Given the description of an element on the screen output the (x, y) to click on. 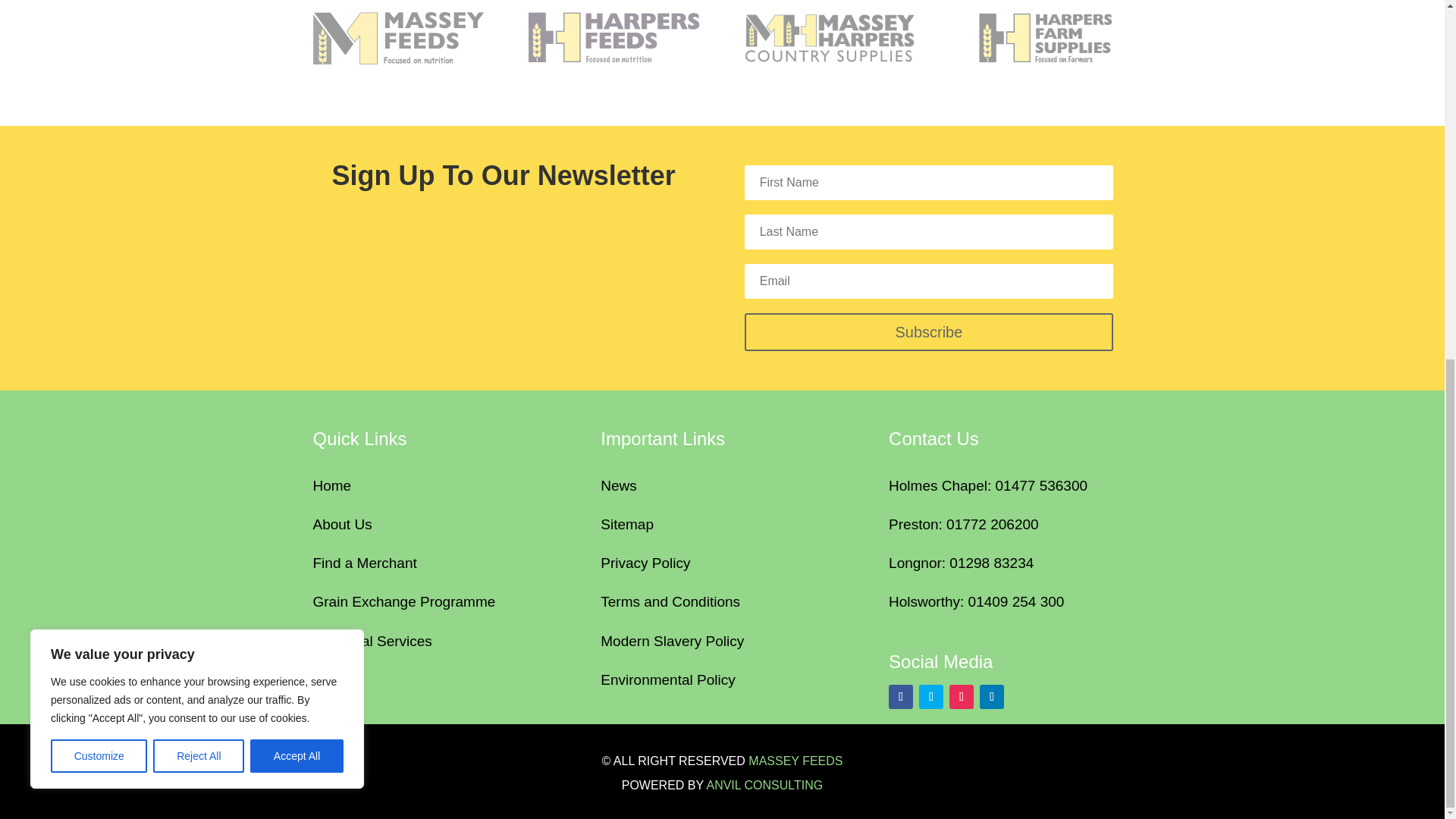
HF (613, 37)
Customize (98, 118)
Accept All (296, 118)
Follow on Instagram (961, 696)
HFS (1045, 37)
MHCS (829, 37)
Follow on LinkedIn (991, 696)
MF (398, 37)
Follow on Facebook (900, 696)
Reject All (198, 118)
Follow on Twitter (930, 696)
